Given the description of an element on the screen output the (x, y) to click on. 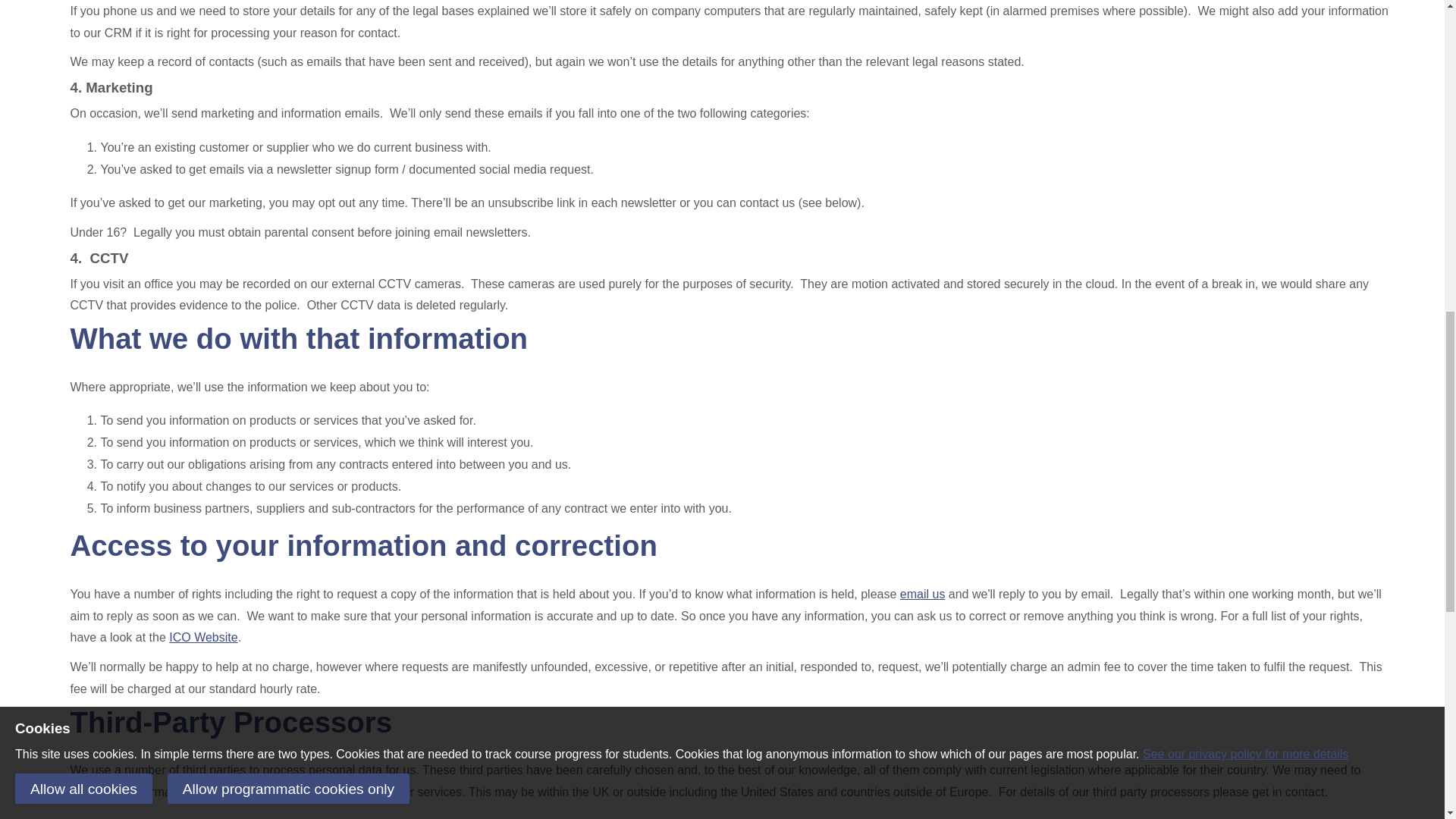
email us (921, 594)
ICO Website (202, 636)
